Given the description of an element on the screen output the (x, y) to click on. 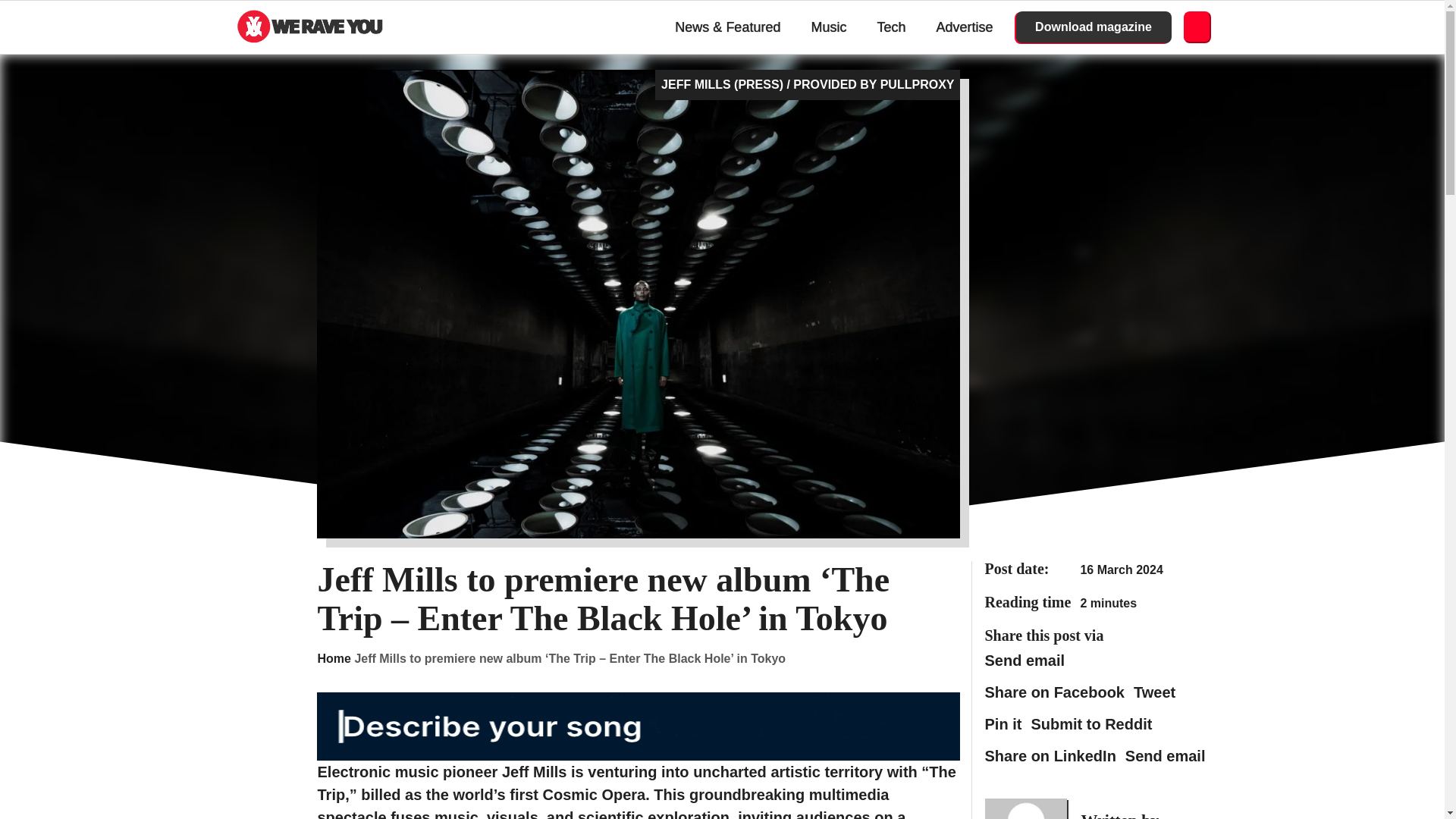
Submit to Reddit (1090, 723)
Share on LinkedIn (1049, 755)
Download magazine (1094, 27)
Music (827, 27)
Share on Facebook (1054, 692)
Tweet (1154, 692)
Advertise (964, 27)
Pin it (1003, 723)
Send email (1165, 755)
Send whatsapp (1024, 660)
